Given the description of an element on the screen output the (x, y) to click on. 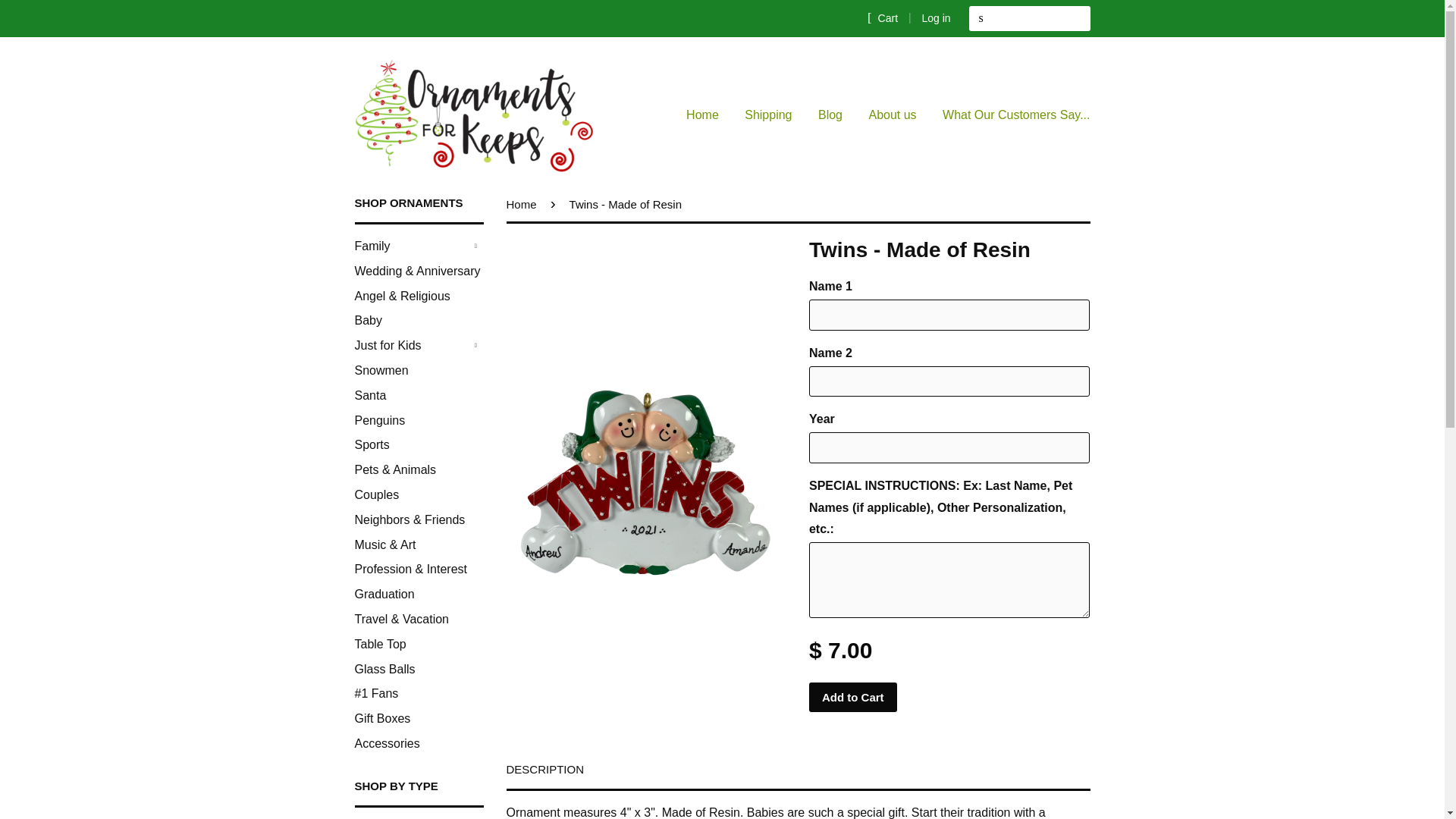
Cart (882, 17)
Log in (935, 18)
Back to the frontpage (523, 204)
Search (980, 18)
